Given the description of an element on the screen output the (x, y) to click on. 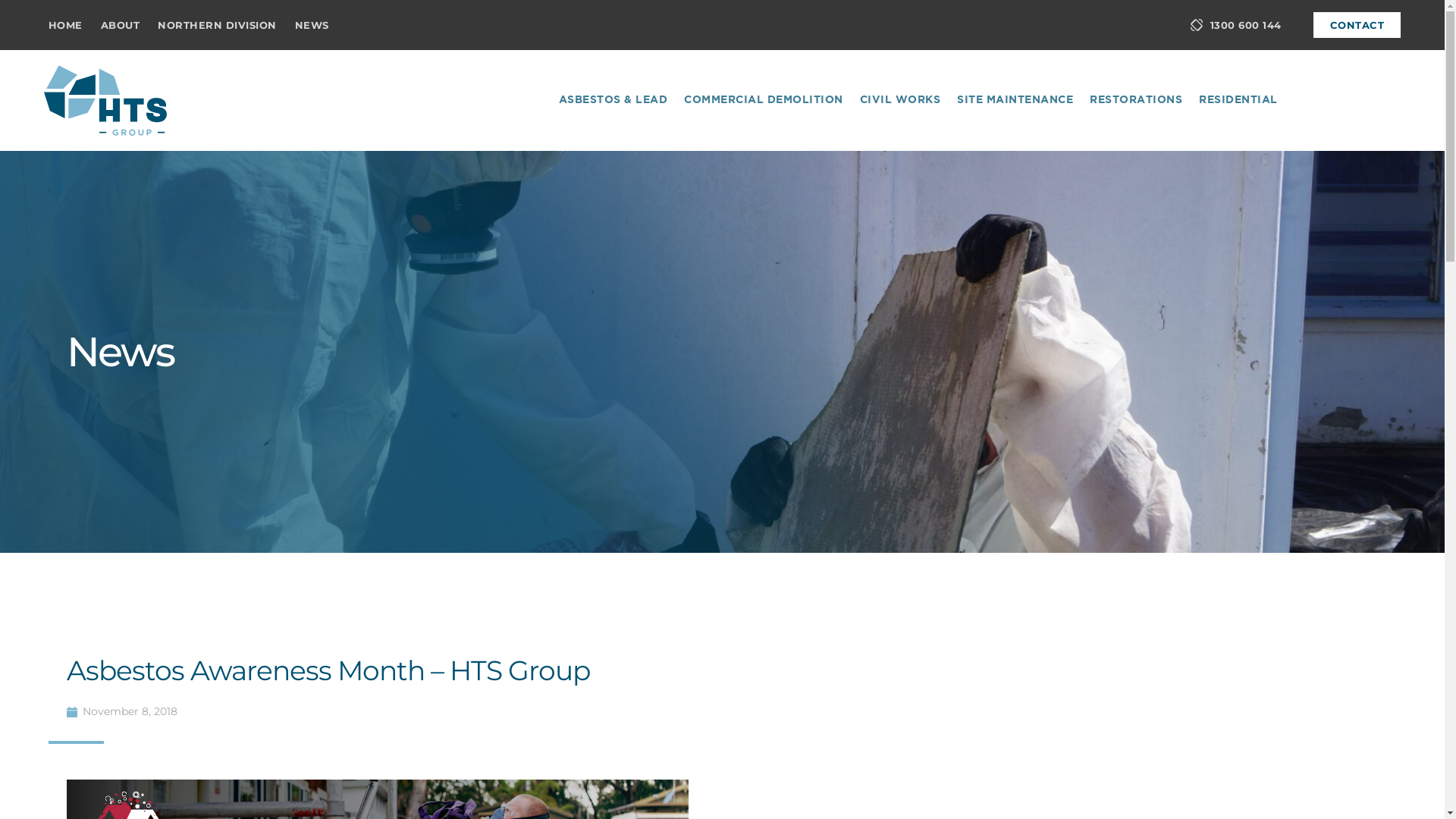
RESIDENTIAL Element type: text (1238, 100)
SITE MAINTENANCE Element type: text (1014, 100)
COMMERCIAL DEMOLITION Element type: text (763, 100)
RESTORATIONS Element type: text (1135, 100)
NEWS Element type: text (311, 24)
1300 600 144 Element type: text (1235, 24)
ABOUT Element type: text (120, 24)
CIVIL WORKS Element type: text (900, 100)
HOME Element type: text (65, 24)
NORTHERN DIVISION Element type: text (217, 24)
ASBESTOS & LEAD Element type: text (613, 100)
CONTACT Element type: text (1357, 24)
